Given the description of an element on the screen output the (x, y) to click on. 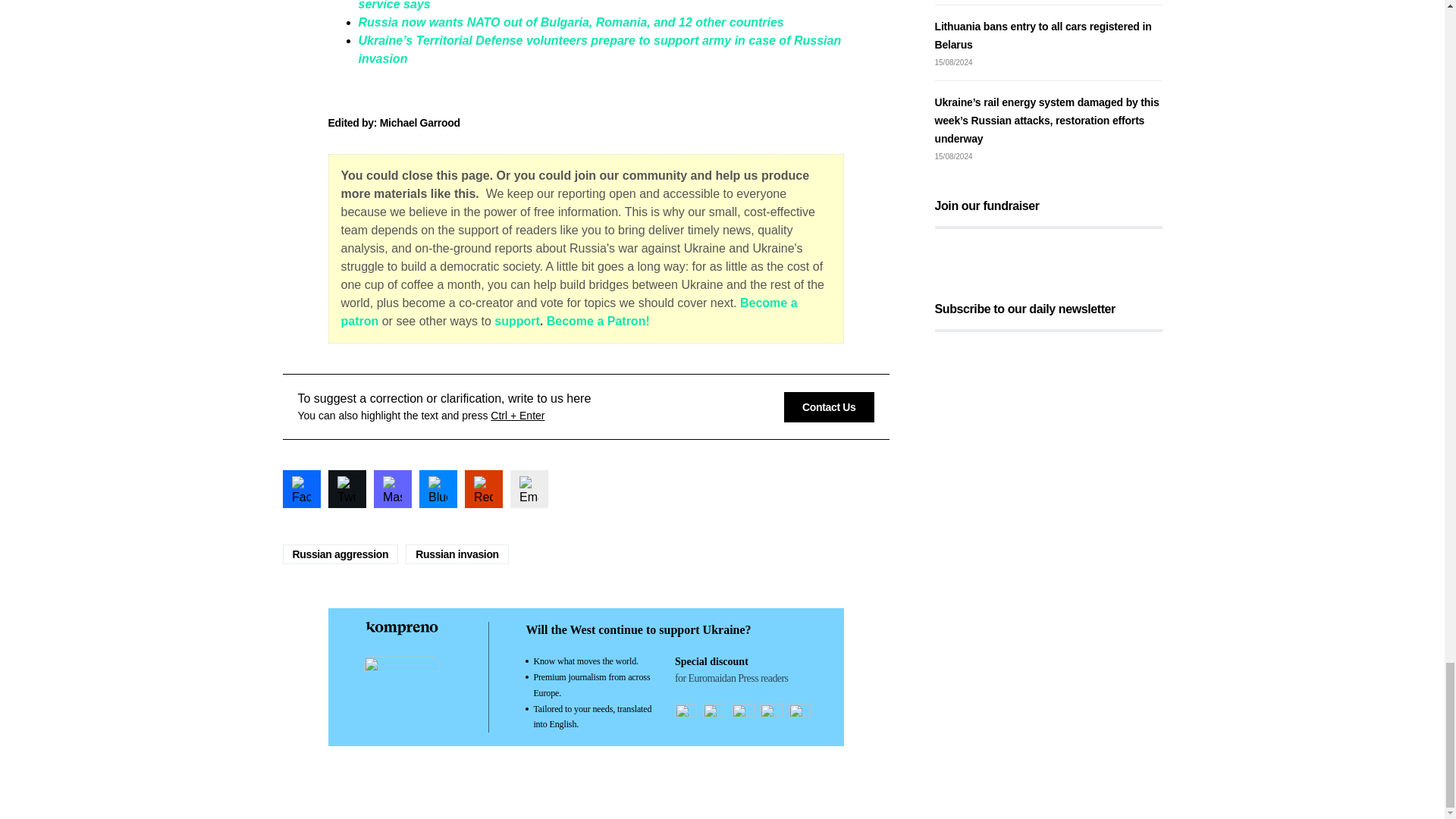
Share to Email (528, 488)
Share to Reddit (483, 488)
Share to Mastodon (391, 488)
Share to Facebook (301, 488)
Share to Bluesky (438, 488)
Share to Twitter (346, 488)
